Given the description of an element on the screen output the (x, y) to click on. 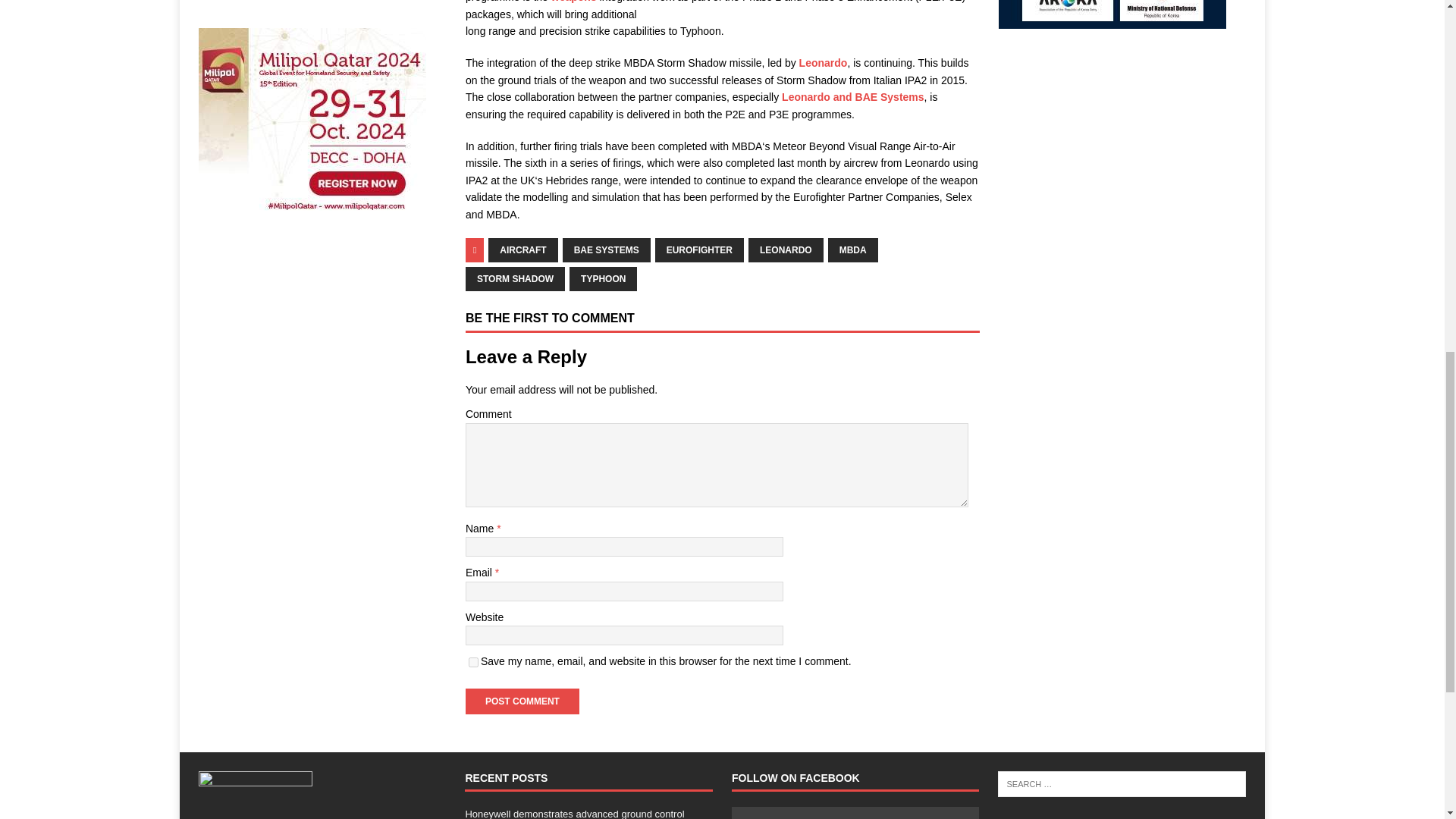
yes (473, 662)
Post Comment (522, 701)
